Given the description of an element on the screen output the (x, y) to click on. 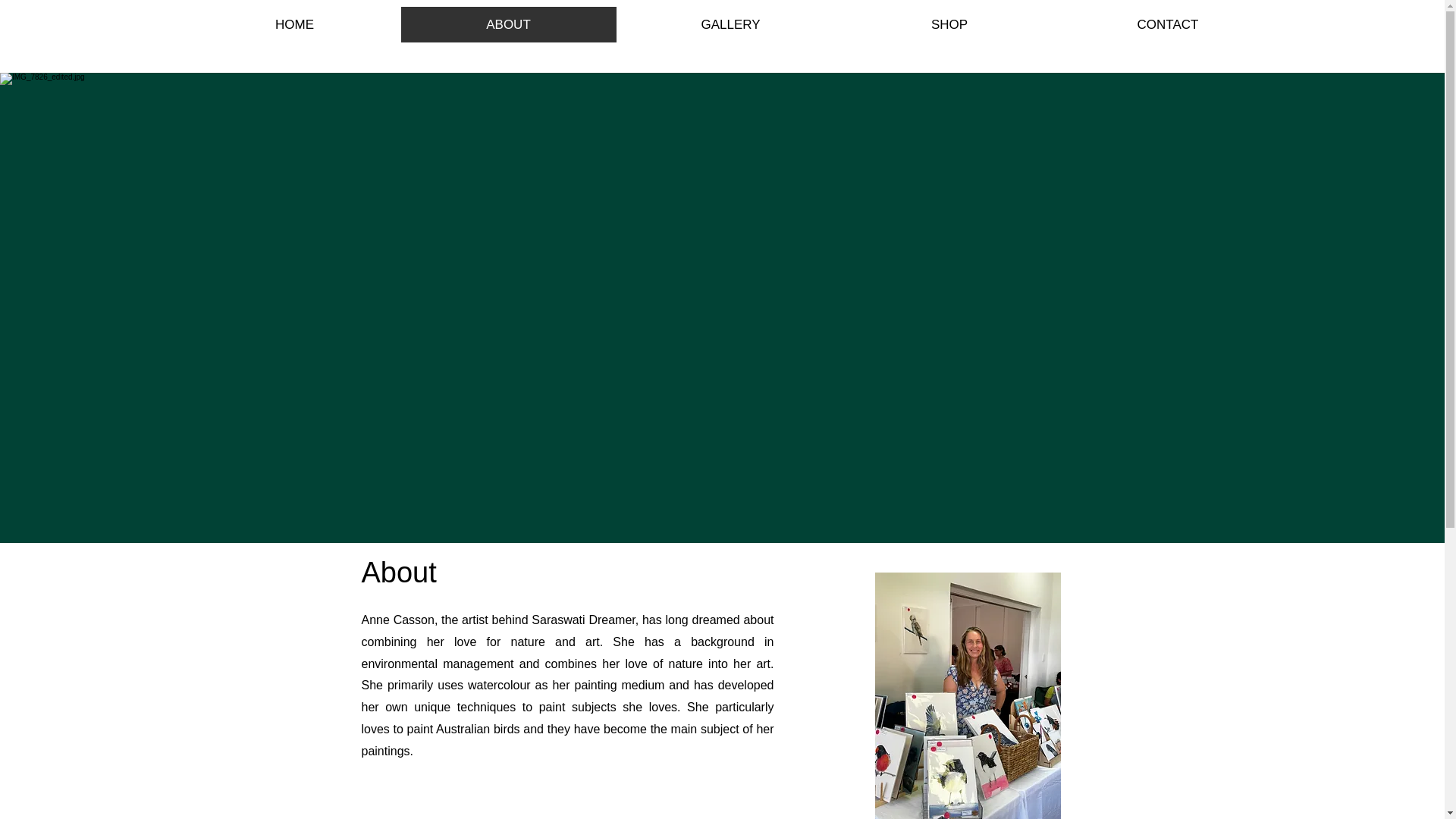
SHOP (949, 24)
CONTACT (1167, 24)
GALLERY (729, 24)
HOME (294, 24)
ABOUT (507, 24)
